Given the description of an element on the screen output the (x, y) to click on. 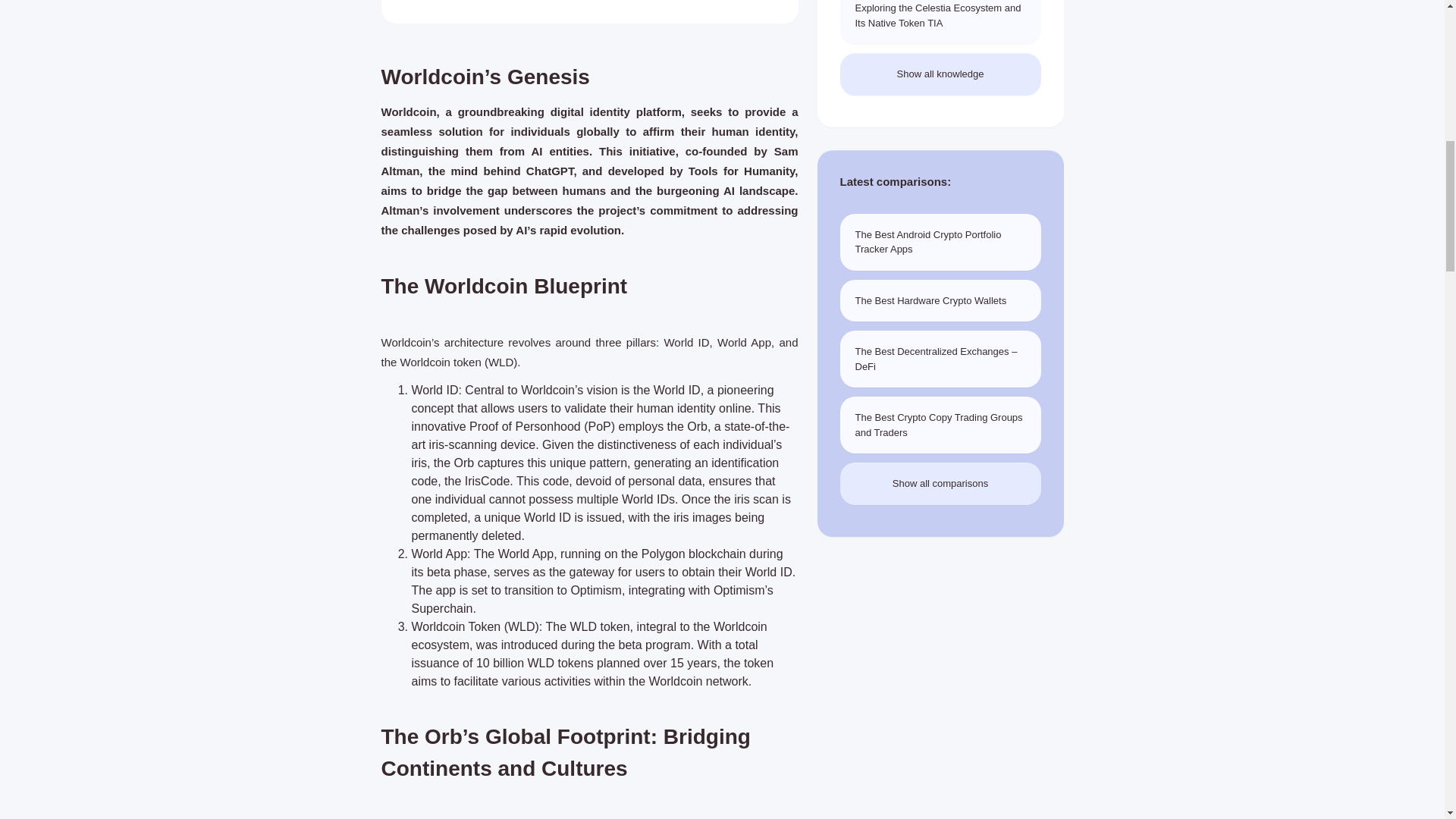
The Best Android Crypto Portfolio Tracker Apps (940, 242)
Exploring the Celestia Ecosystem and Its Native Token TIA (940, 22)
Show all knowledge (940, 74)
The Best Hardware Crypto Wallets (940, 301)
